Given the description of an element on the screen output the (x, y) to click on. 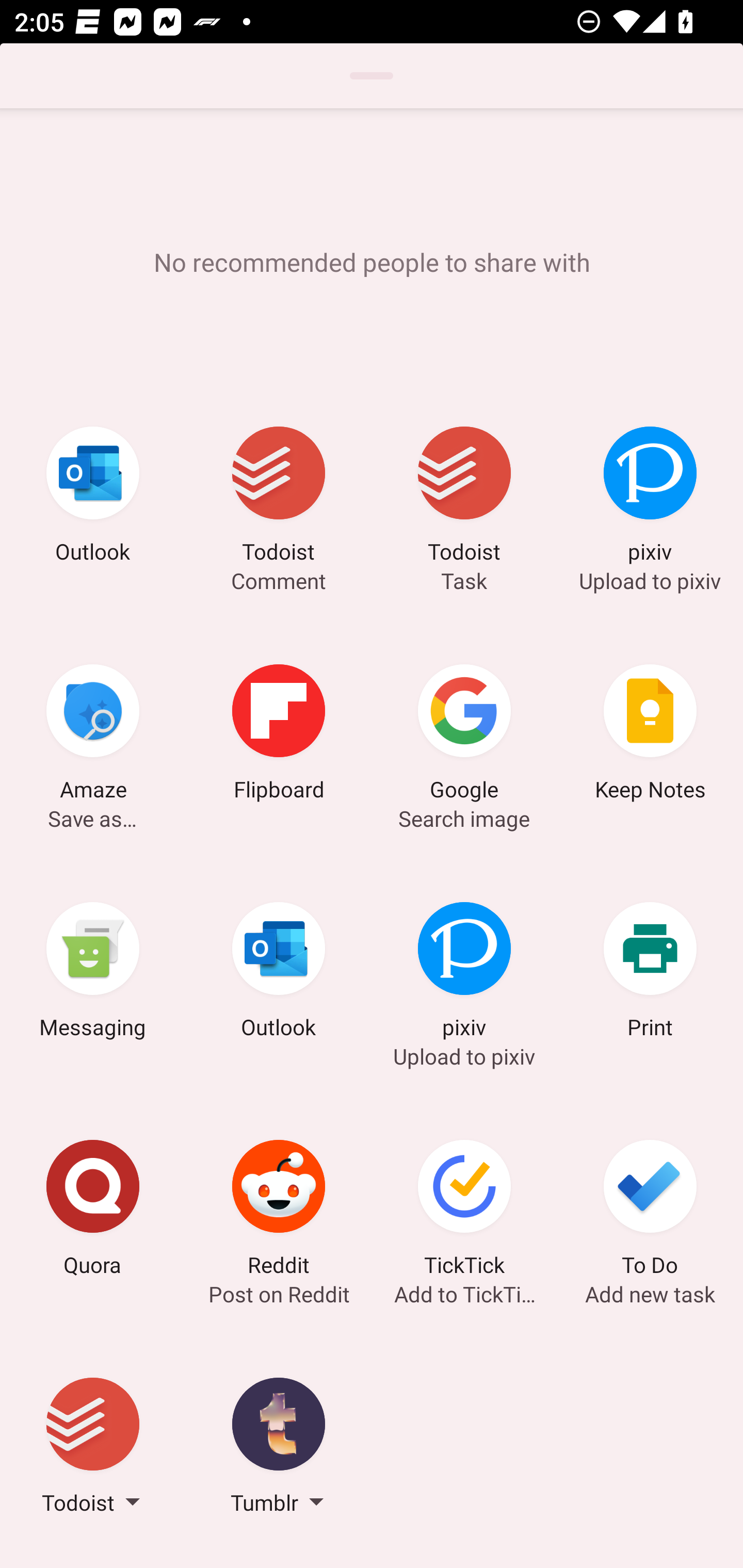
Outlook (92, 497)
Todoist Comment (278, 497)
Todoist Task (464, 497)
pixiv Upload to pixiv (650, 497)
Amaze Save as… (92, 735)
Flipboard (278, 735)
Google Search image (464, 735)
Keep Notes (650, 735)
Messaging (92, 973)
Outlook (278, 973)
pixiv Upload to pixiv (464, 973)
Print (650, 973)
Quora (92, 1210)
Reddit Post on Reddit (278, 1210)
TickTick Add to TickTick (464, 1210)
To Do Add new task (650, 1210)
Todoist (92, 1448)
Tumblr (278, 1448)
